Given the description of an element on the screen output the (x, y) to click on. 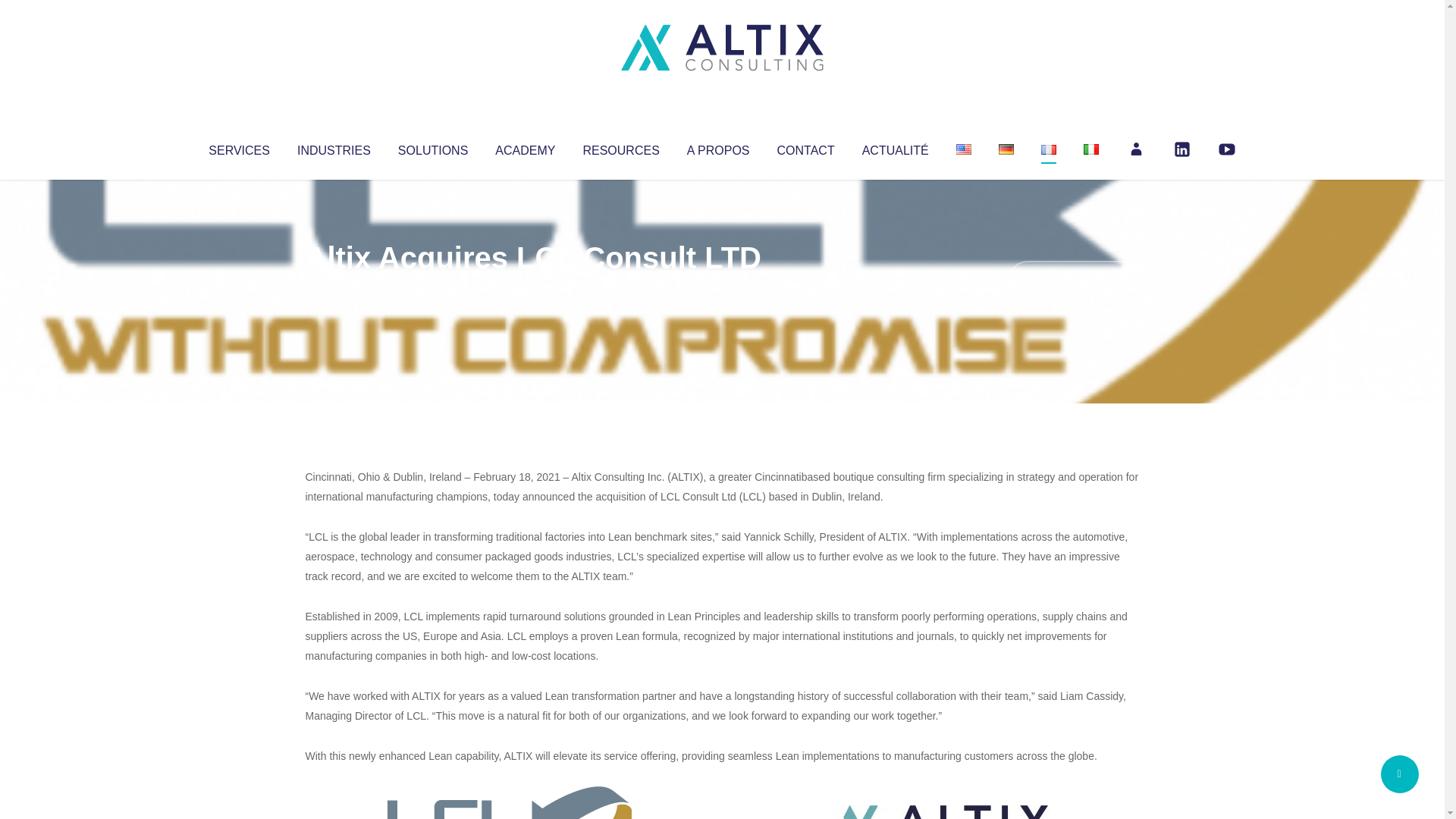
Altix (333, 287)
No Comments (1073, 278)
Articles par Altix (333, 287)
SOLUTIONS (432, 146)
Uncategorized (530, 287)
ACADEMY (524, 146)
RESOURCES (620, 146)
INDUSTRIES (334, 146)
SERVICES (238, 146)
A PROPOS (718, 146)
